Given the description of an element on the screen output the (x, y) to click on. 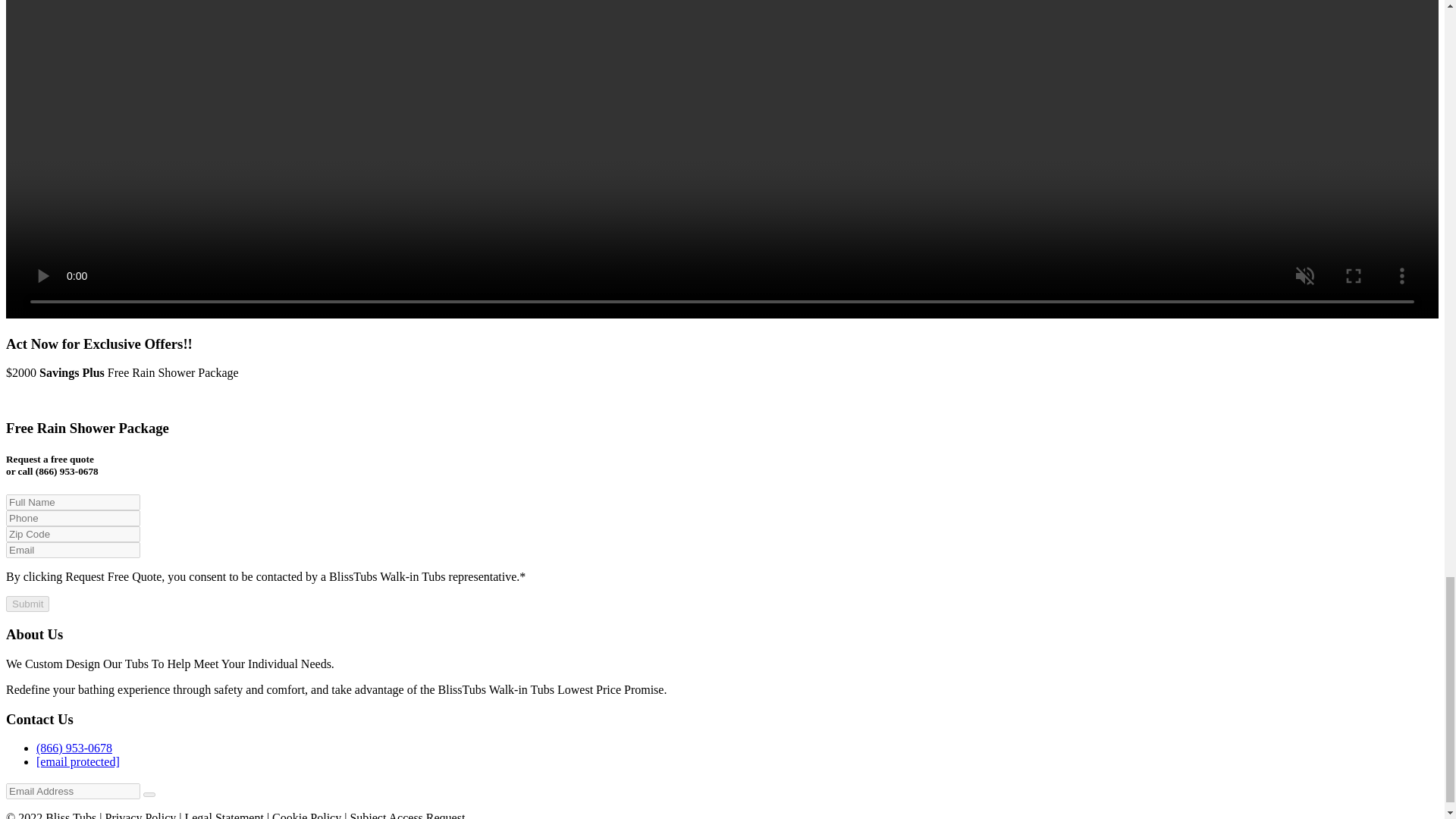
Submit (27, 603)
